Given the description of an element on the screen output the (x, y) to click on. 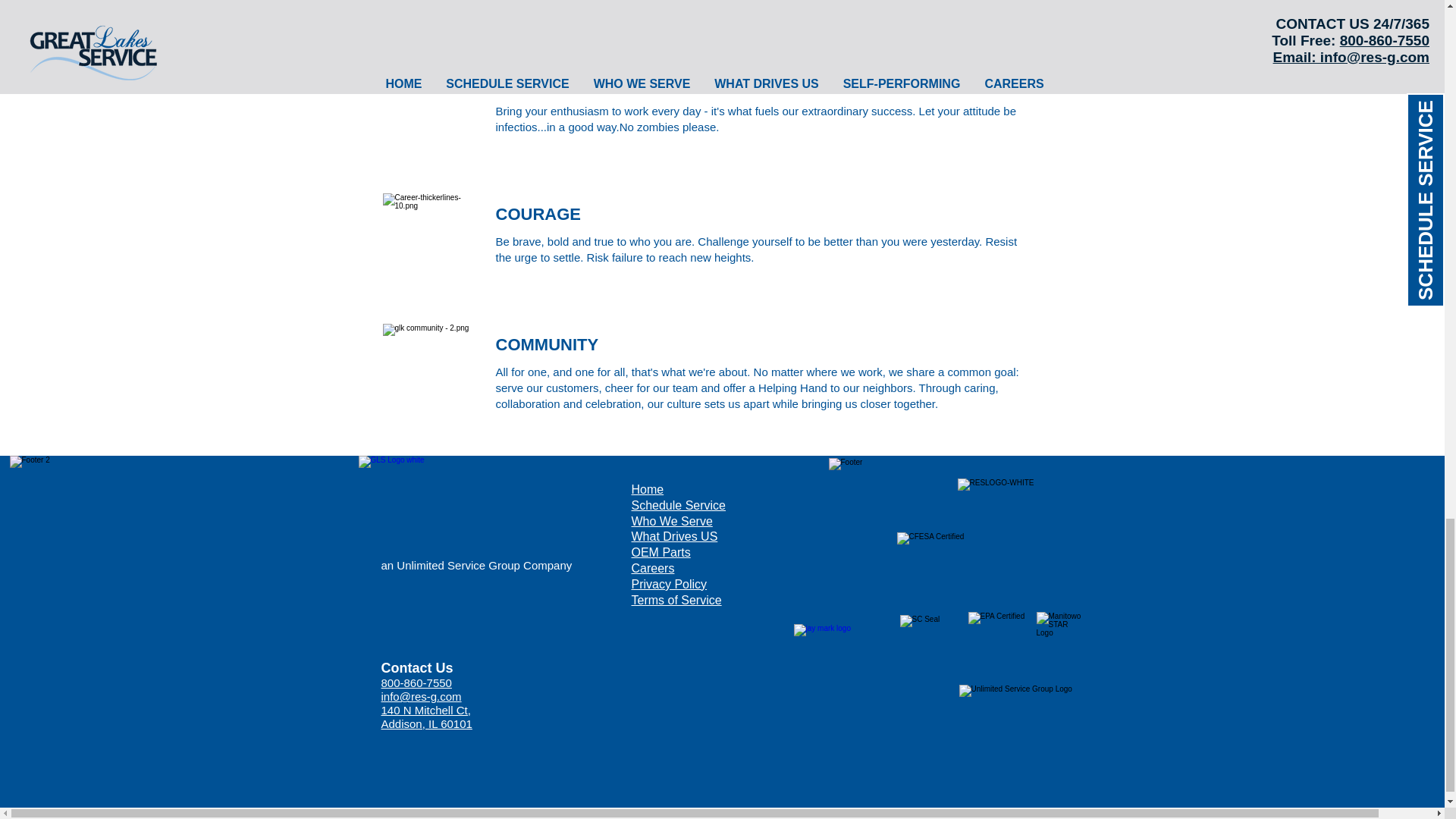
Careers (652, 567)
Terms of Service (675, 599)
Who We Serve (670, 521)
Schedule Service (677, 504)
140 N Mitchell Ct, (425, 709)
What Drives US (673, 535)
Addison, IL 60101 (425, 723)
800-860-7550 (415, 682)
Home (646, 489)
OEM Parts (660, 552)
Privacy Policy (668, 584)
